Given the description of an element on the screen output the (x, y) to click on. 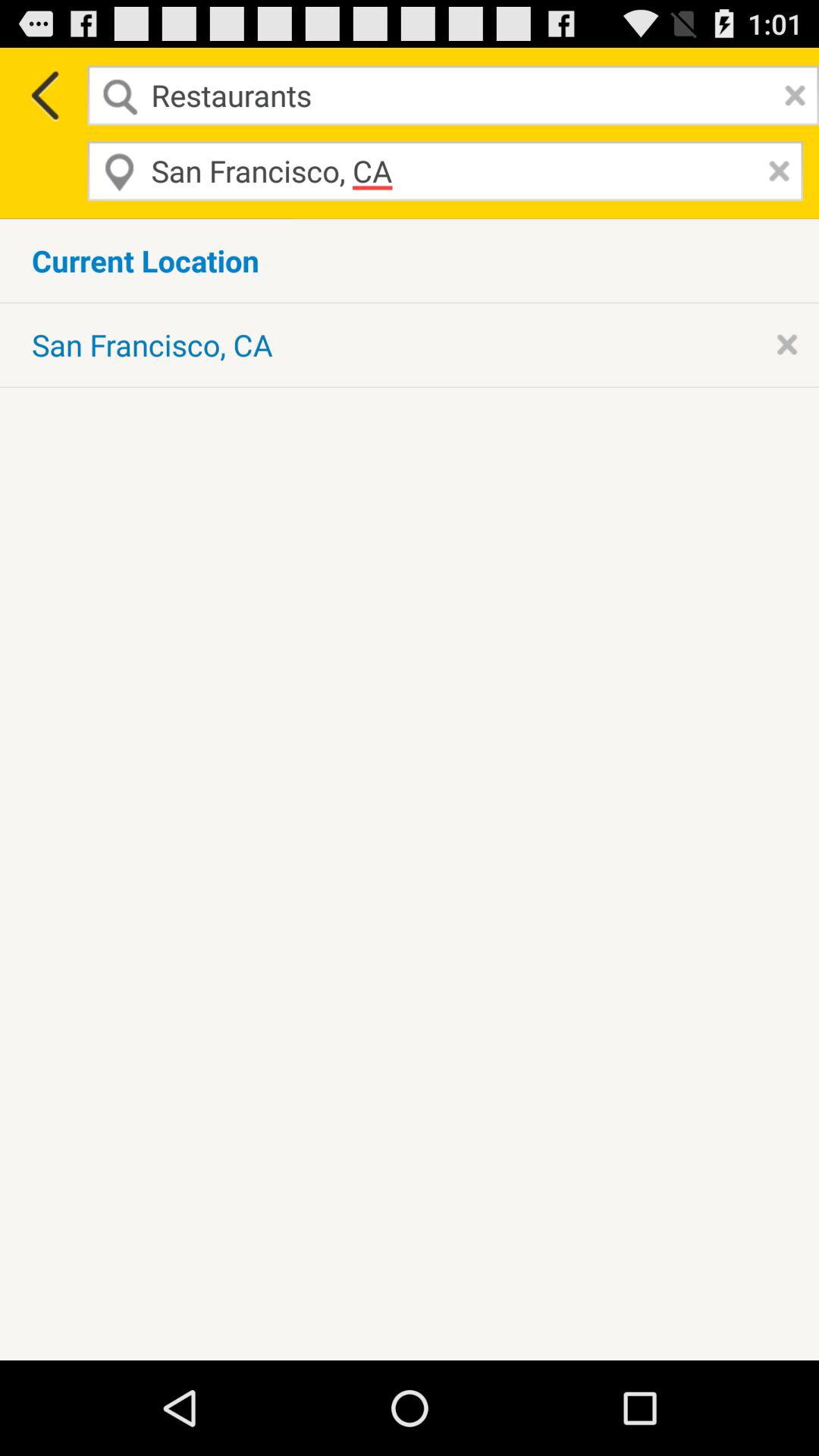
go back (43, 95)
